Given the description of an element on the screen output the (x, y) to click on. 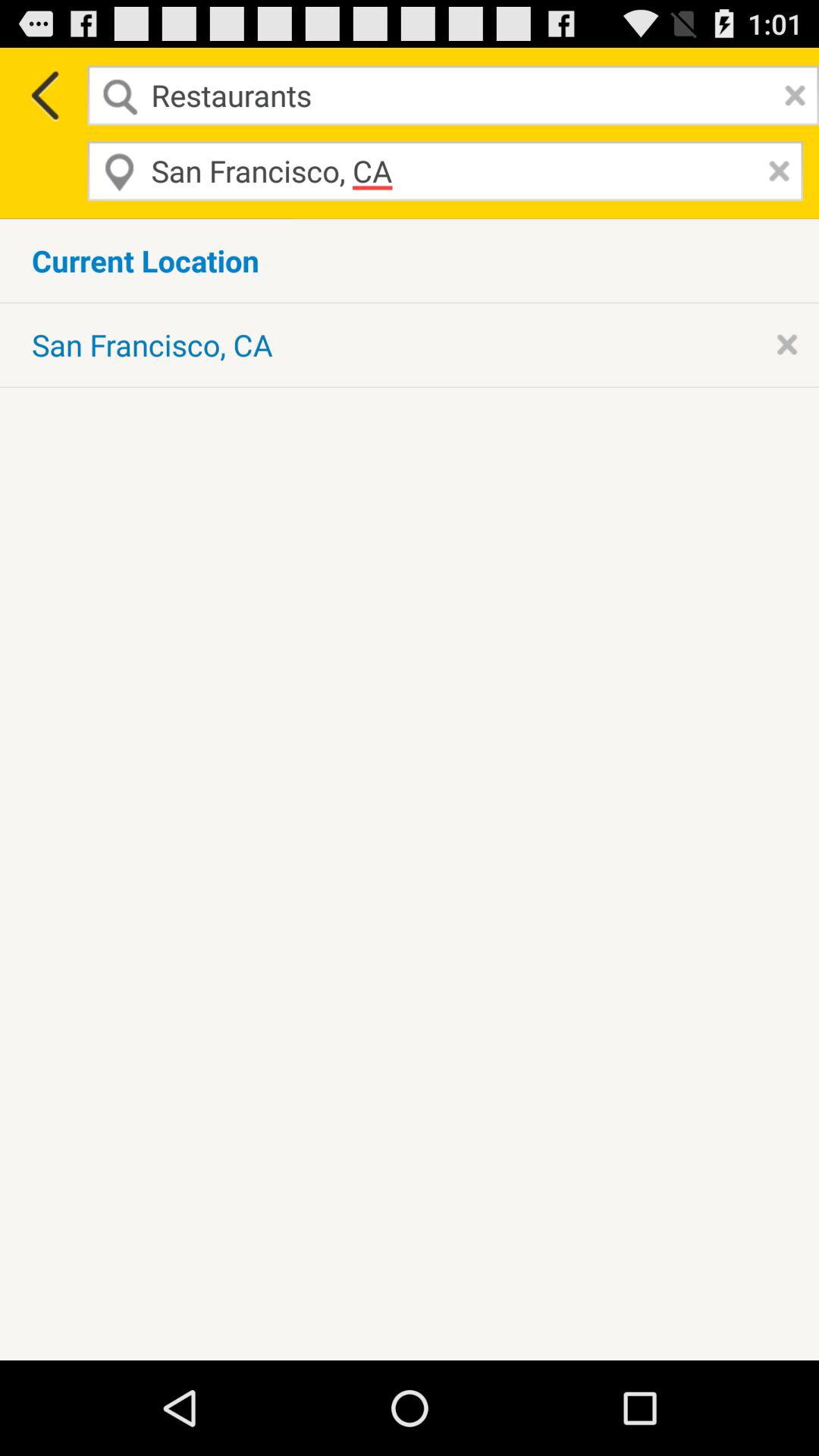
go back (43, 95)
